Given the description of an element on the screen output the (x, y) to click on. 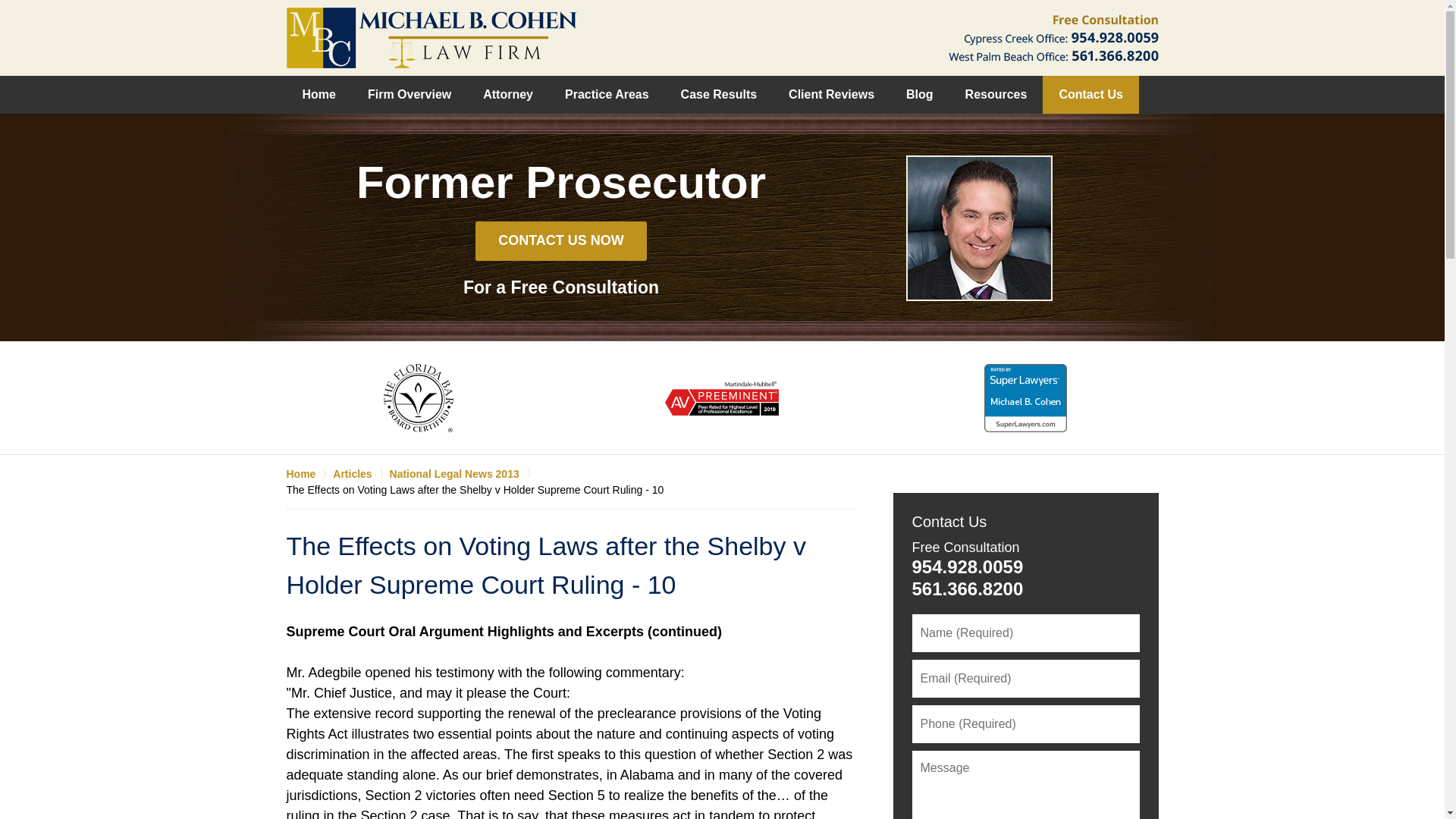
Law Office of Michael B. Cohen Home (431, 37)
Back to Home (431, 37)
Articles (360, 473)
Home (319, 94)
CONTACT US NOW (561, 241)
Blog (919, 94)
National Legal News 2013 (463, 473)
Case Results (719, 94)
Client Reviews (831, 94)
Home (309, 473)
Practice Areas (606, 94)
Resources (996, 94)
Contact Us (949, 521)
Firm Overview (409, 94)
Attorney (507, 94)
